Given the description of an element on the screen output the (x, y) to click on. 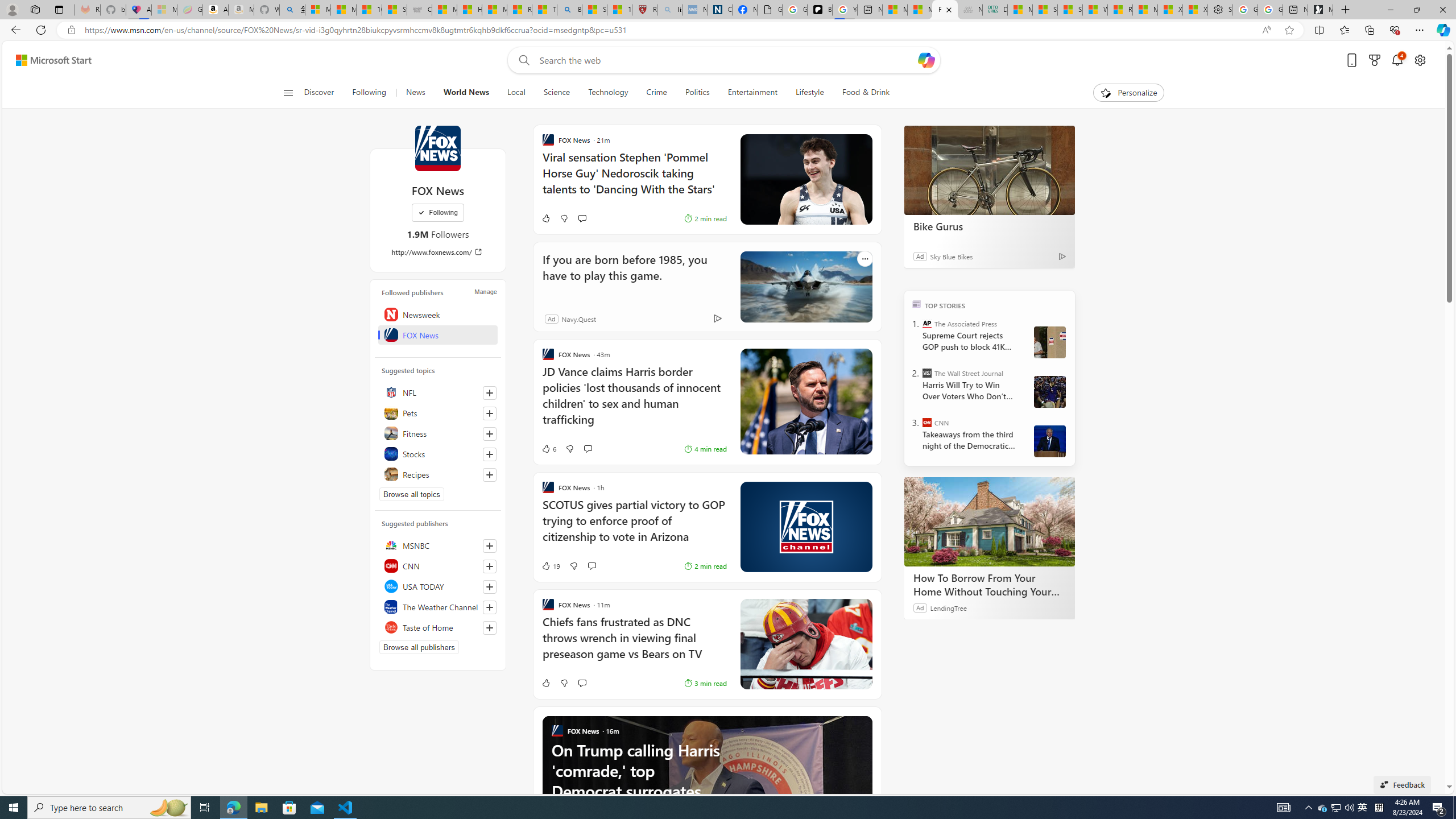
Pets (437, 412)
FOX News (437, 148)
Food & Drink (865, 92)
Follow this topic (489, 474)
Enter your search term (726, 59)
TOP (916, 302)
Follow this source (489, 627)
Manage (485, 291)
The Associated Press (927, 323)
6 Like (438, 448)
